Given the description of an element on the screen output the (x, y) to click on. 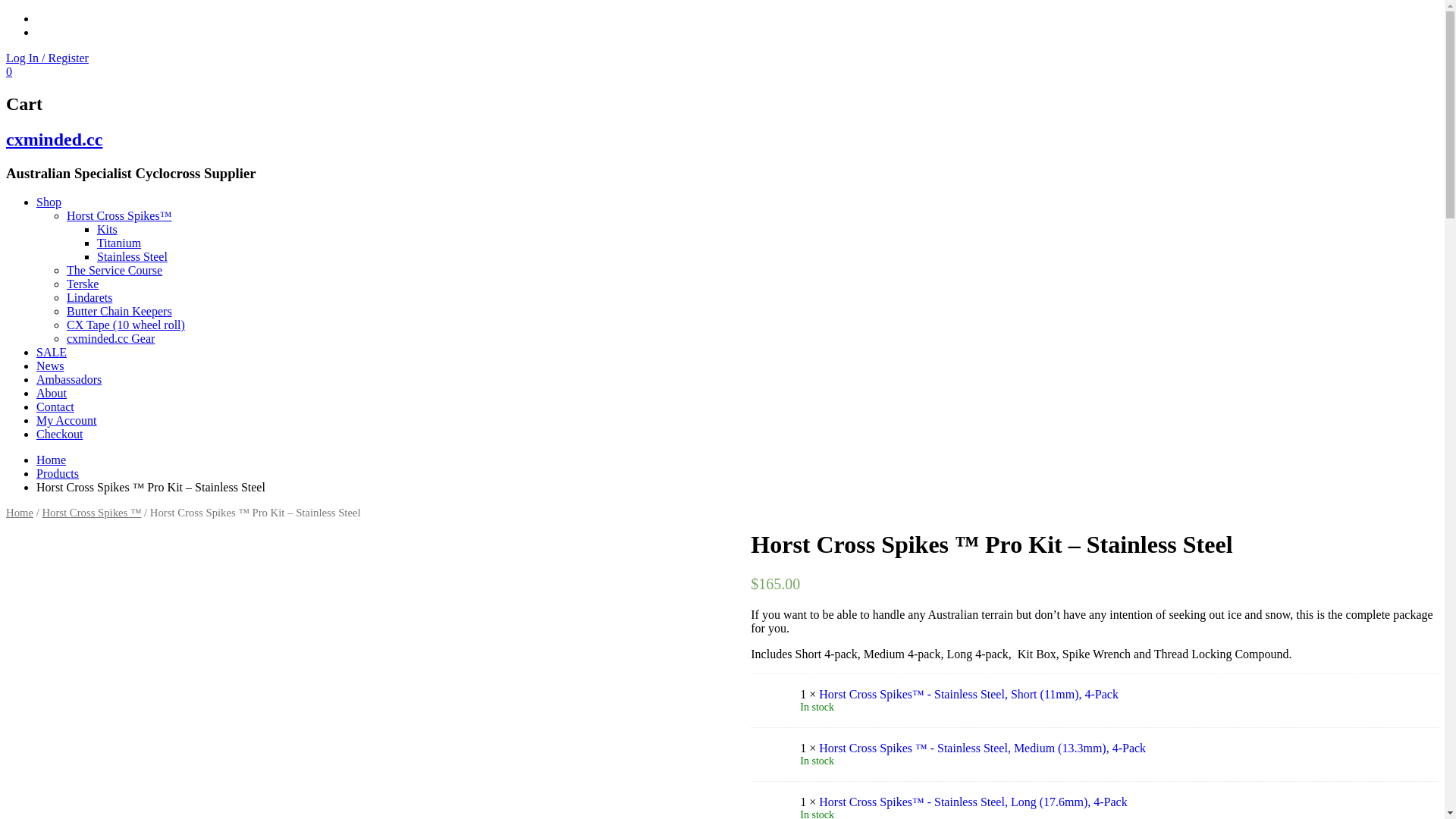
Lindarets Element type: text (89, 297)
The Service Course Element type: text (114, 269)
Home Element type: text (19, 512)
Shop Element type: text (48, 201)
My Account Element type: text (66, 420)
0 Element type: text (9, 71)
Contact Element type: text (55, 406)
Ambassadors Element type: text (68, 379)
cxminded.cc Gear Element type: text (110, 338)
CX Tape (10 wheel roll) Element type: text (125, 324)
Checkout Element type: text (59, 433)
News Element type: text (49, 365)
Butter Chain Keepers Element type: text (119, 310)
Kits Element type: text (107, 228)
Stainless Steel Element type: text (132, 256)
SALE Element type: text (51, 351)
Terske Element type: text (82, 283)
Log In / Register Element type: text (47, 57)
About Element type: text (51, 392)
Products Element type: text (57, 473)
cxminded.cc Element type: text (54, 139)
Titanium Element type: text (119, 242)
Home Element type: text (50, 459)
